Given the description of an element on the screen output the (x, y) to click on. 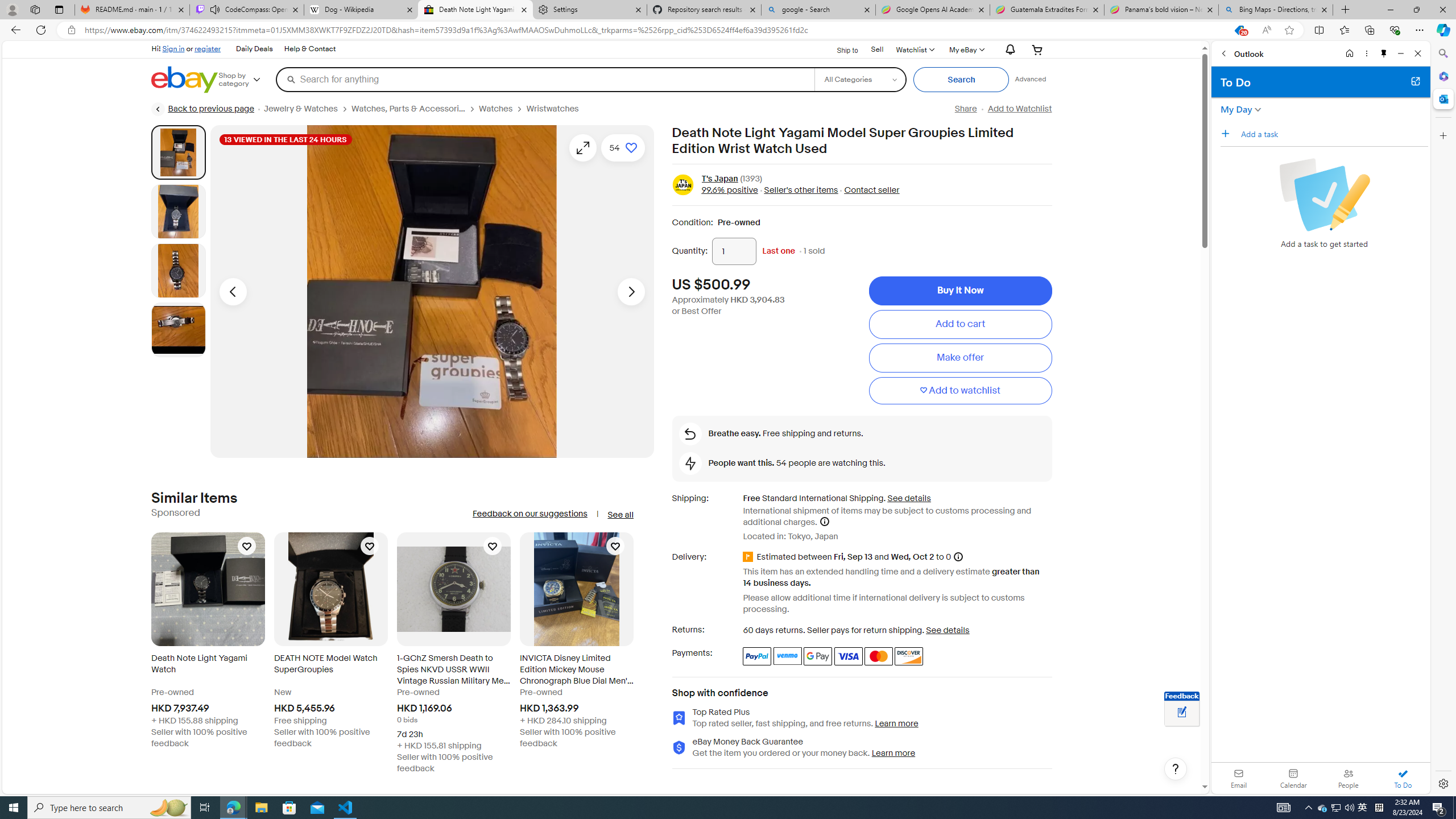
  Seller's other items (797, 190)
Calendar. Date today is 22 (1293, 777)
Add Death Note Light Yagami Watch to your watch list (246, 546)
Add DEATH NOTE Model Watch SuperGroupies to your watch list (368, 546)
Watches, Parts & Accessories (407, 108)
Add to watchlist - 54 watchers (623, 147)
register (207, 48)
(1393) (750, 179)
